Given the description of an element on the screen output the (x, y) to click on. 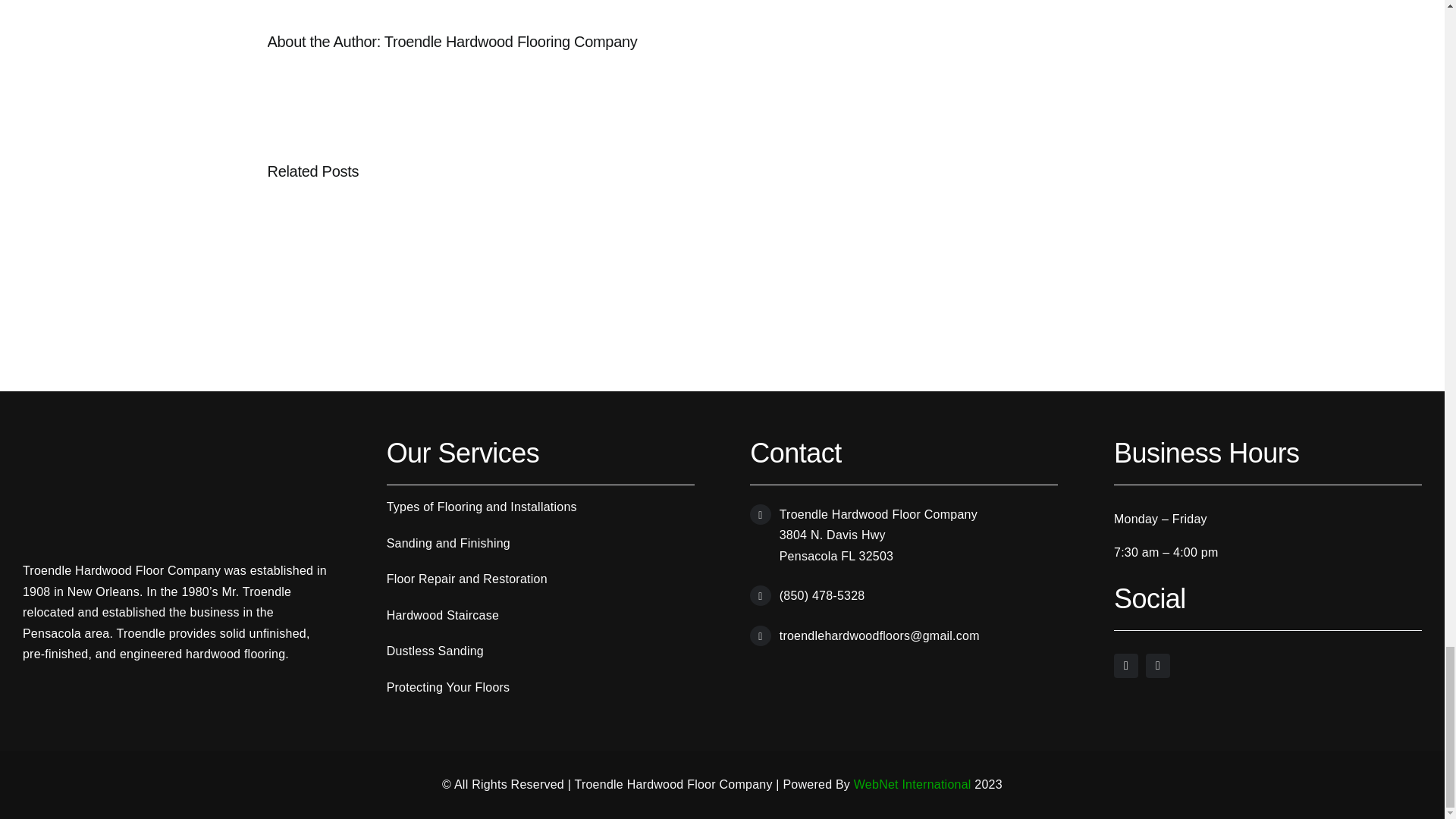
Troendle Hardwood Flooring Company (510, 41)
Posts by Troendle Hardwood Flooring Company (510, 41)
